Given the description of an element on the screen output the (x, y) to click on. 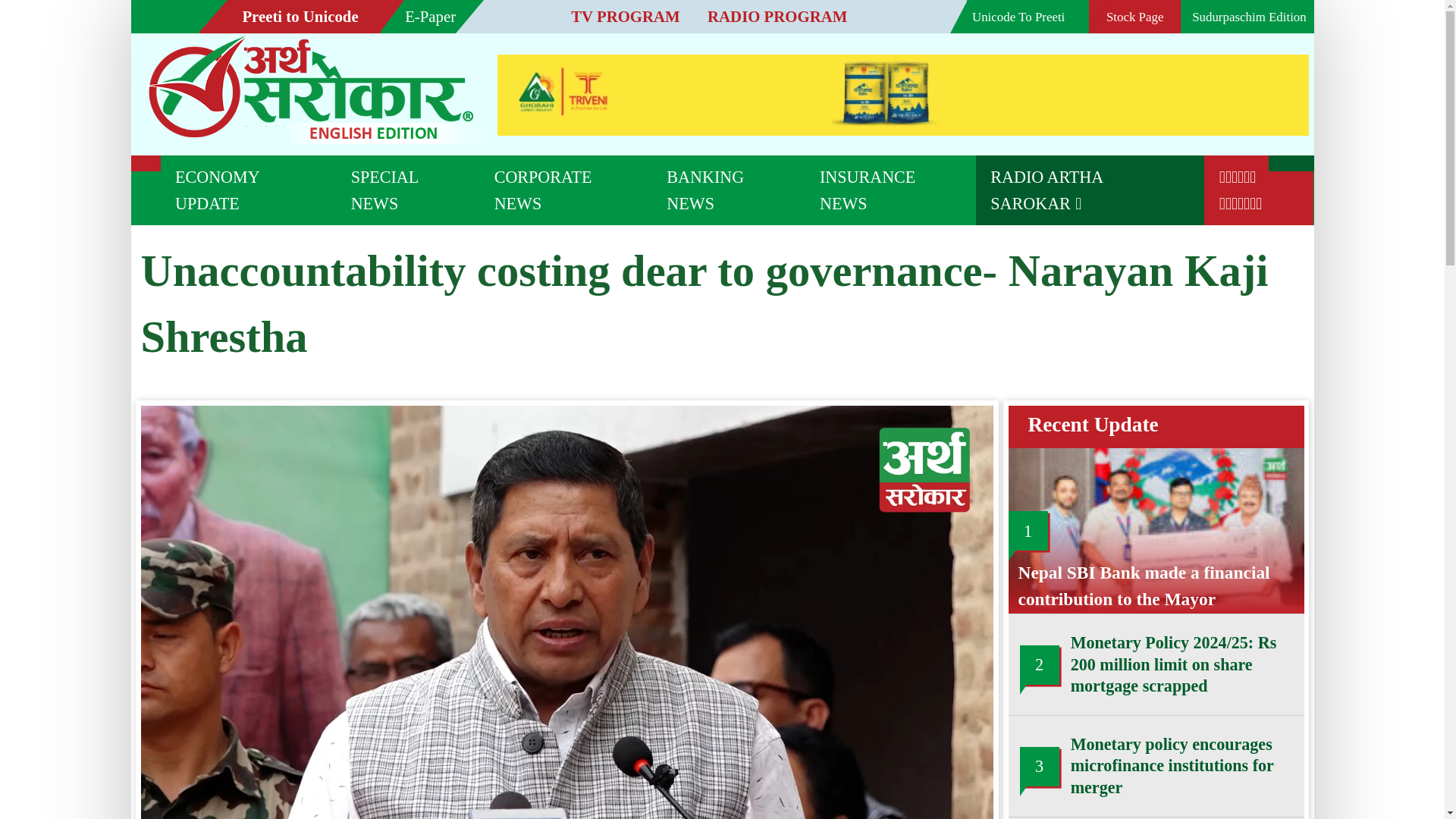
ECONOMY UPDATE (191, 145)
Sudurpaschim Edition (960, 12)
RADIO PROGRAM (593, 12)
TV PROGRAM (476, 12)
Recent Update (840, 326)
CORPORATE NEWS (434, 145)
Unicode To Preeti (788, 12)
RADIO ARTHA SAROKAR (838, 145)
BANKING NEWS (559, 145)
INSURANCE NEWS (685, 145)
Stock Page (872, 12)
SPECIAL NEWS (313, 145)
